Given the description of an element on the screen output the (x, y) to click on. 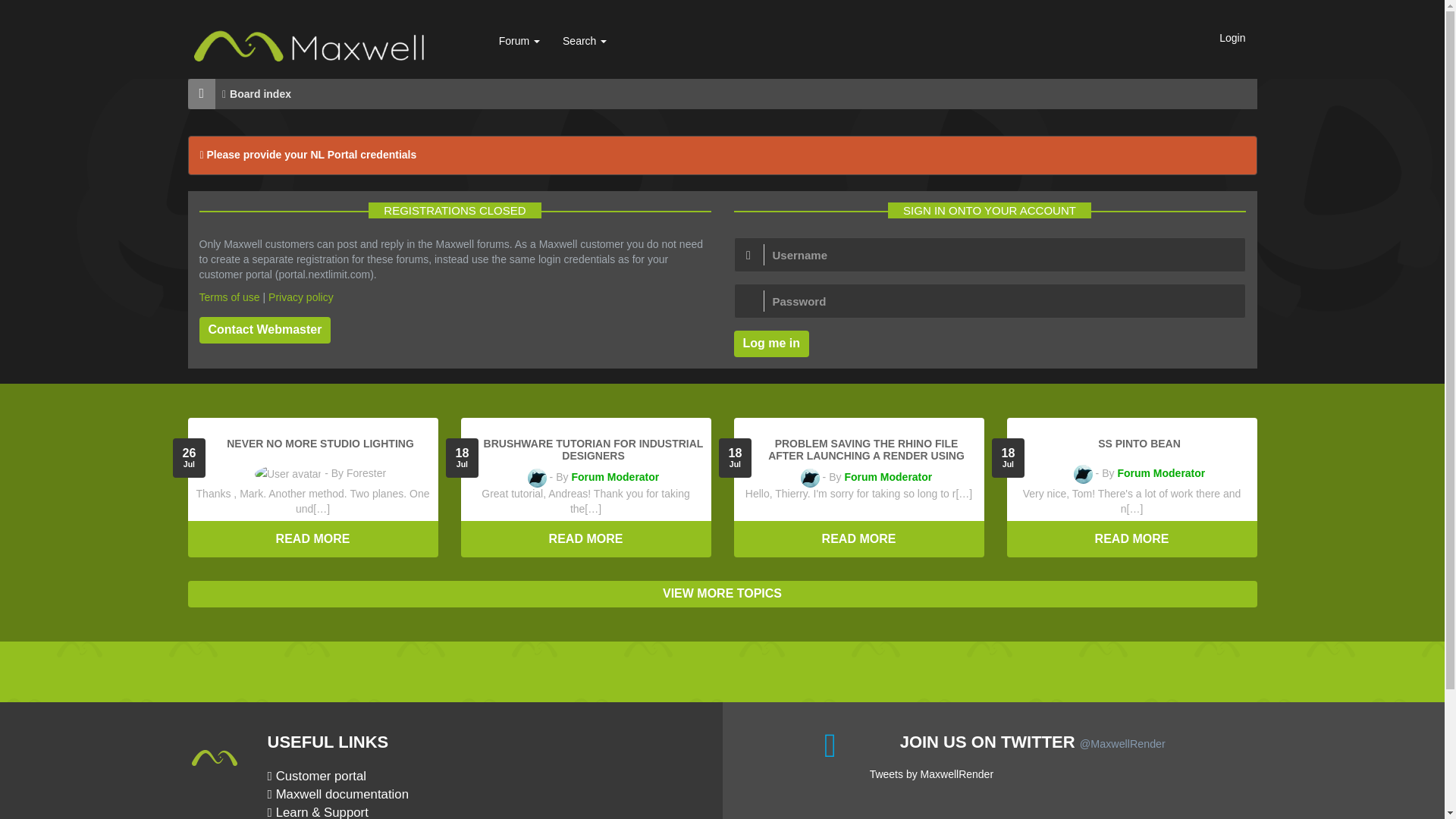
Board index (260, 93)
Log me in (771, 343)
READ MORE (858, 538)
SS PINTO BEAN (1138, 443)
Privacy policy (300, 297)
Search  (584, 40)
READ MORE (1132, 538)
VIEW MORE TOPICS (722, 593)
READ MORE (586, 538)
Login (1232, 37)
Tweets by MaxwellRender (930, 774)
Contact Webmaster (264, 329)
Forum  (519, 40)
Terms of use (228, 297)
